Given the description of an element on the screen output the (x, y) to click on. 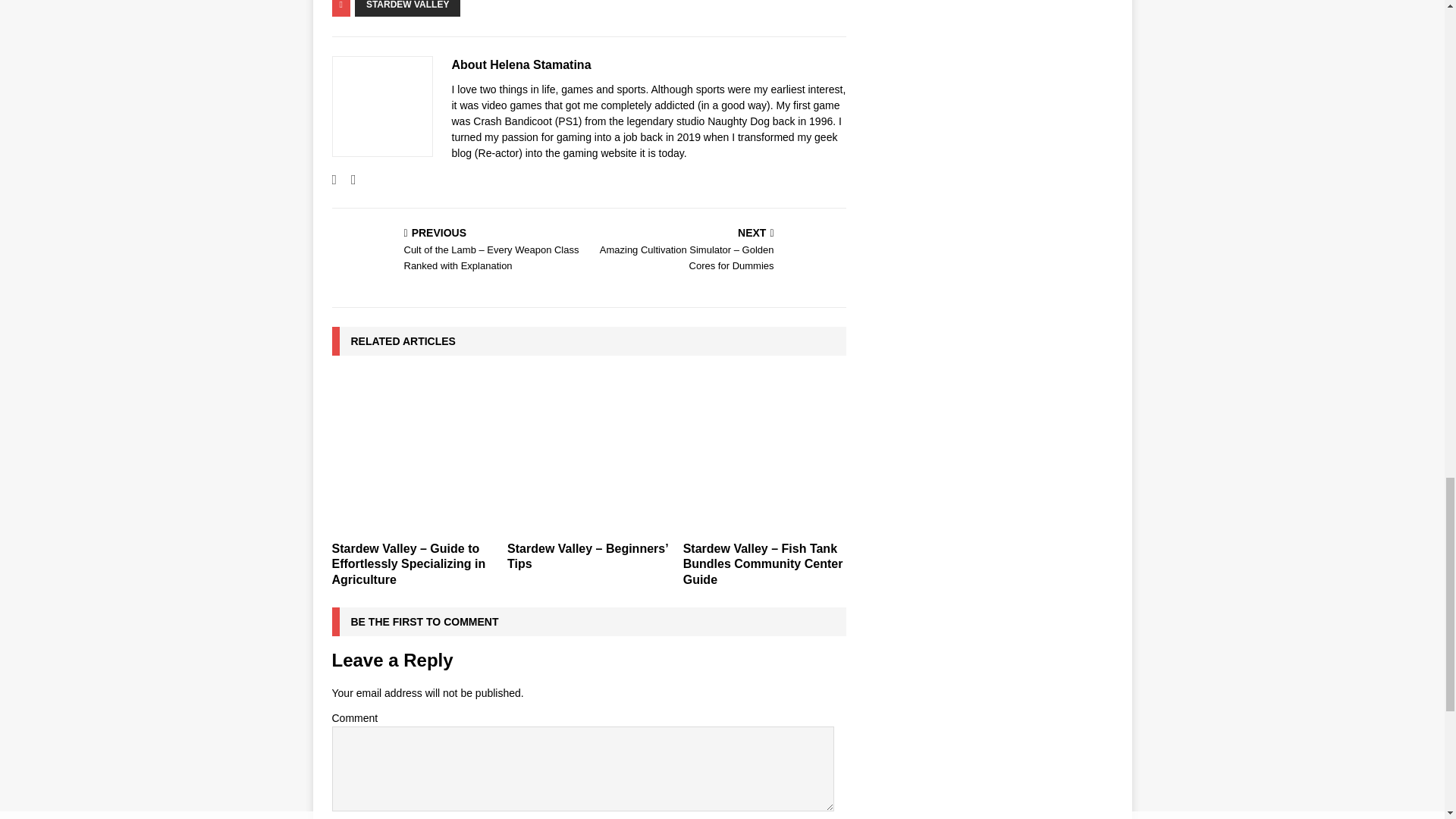
STARDEW VALLEY (408, 8)
Follow Helena Stamatina on Twitter (347, 179)
